Given the description of an element on the screen output the (x, y) to click on. 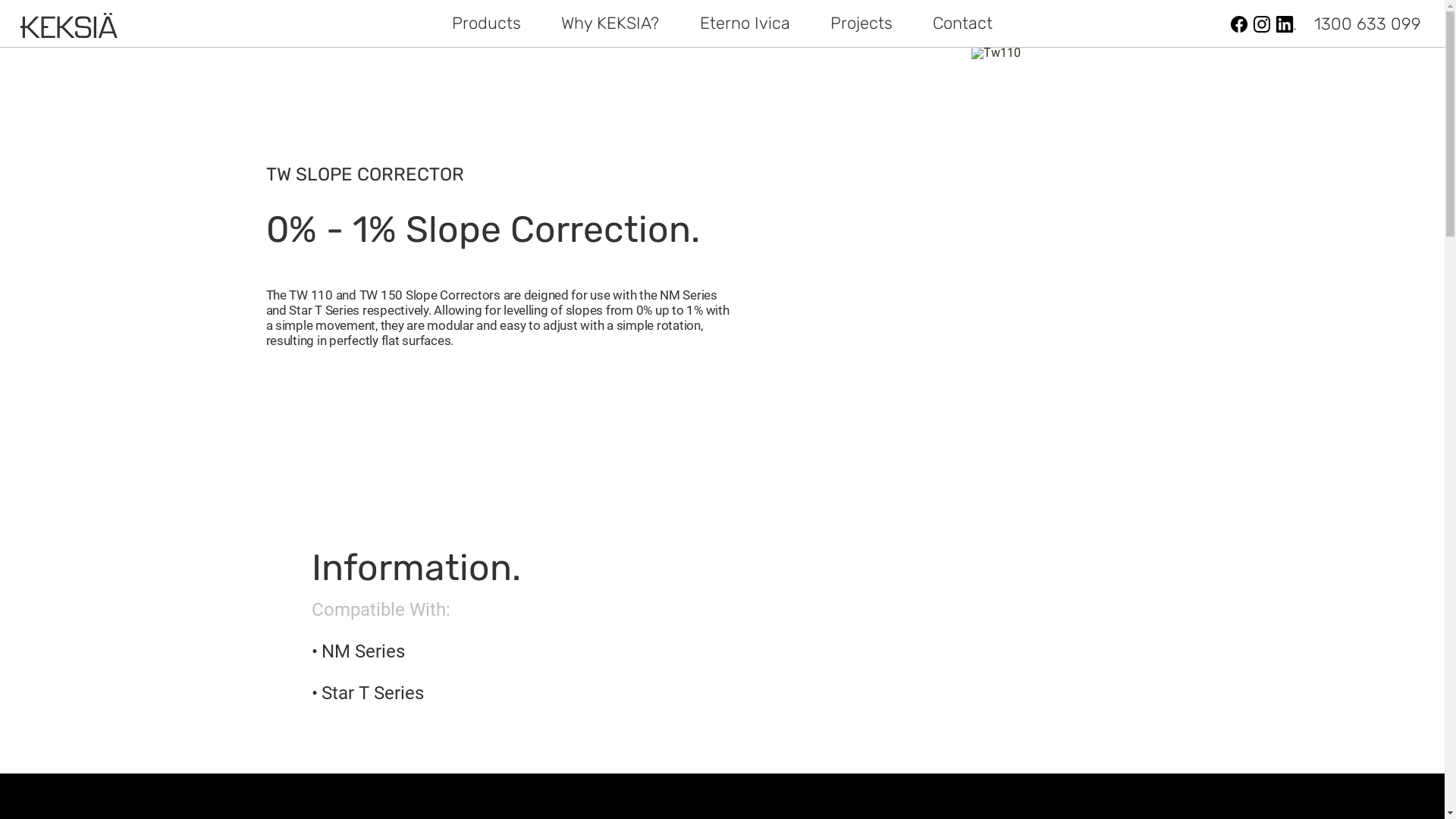
1300 633 099 Element type: text (1367, 24)
Fencing & Screening Element type: text (867, 23)
Decking Element type: text (639, 23)
Products Element type: text (486, 23)
Projects Element type: text (861, 23)
Residential Element type: text (779, 23)
Why KEKSIA? Element type: text (609, 23)
Eterno Ivica Element type: text (743, 23)
Pedestals Element type: text (542, 23)
Commercial Element type: text (666, 23)
Cladding Element type: text (733, 23)
Contact Element type: text (962, 23)
